Given the description of an element on the screen output the (x, y) to click on. 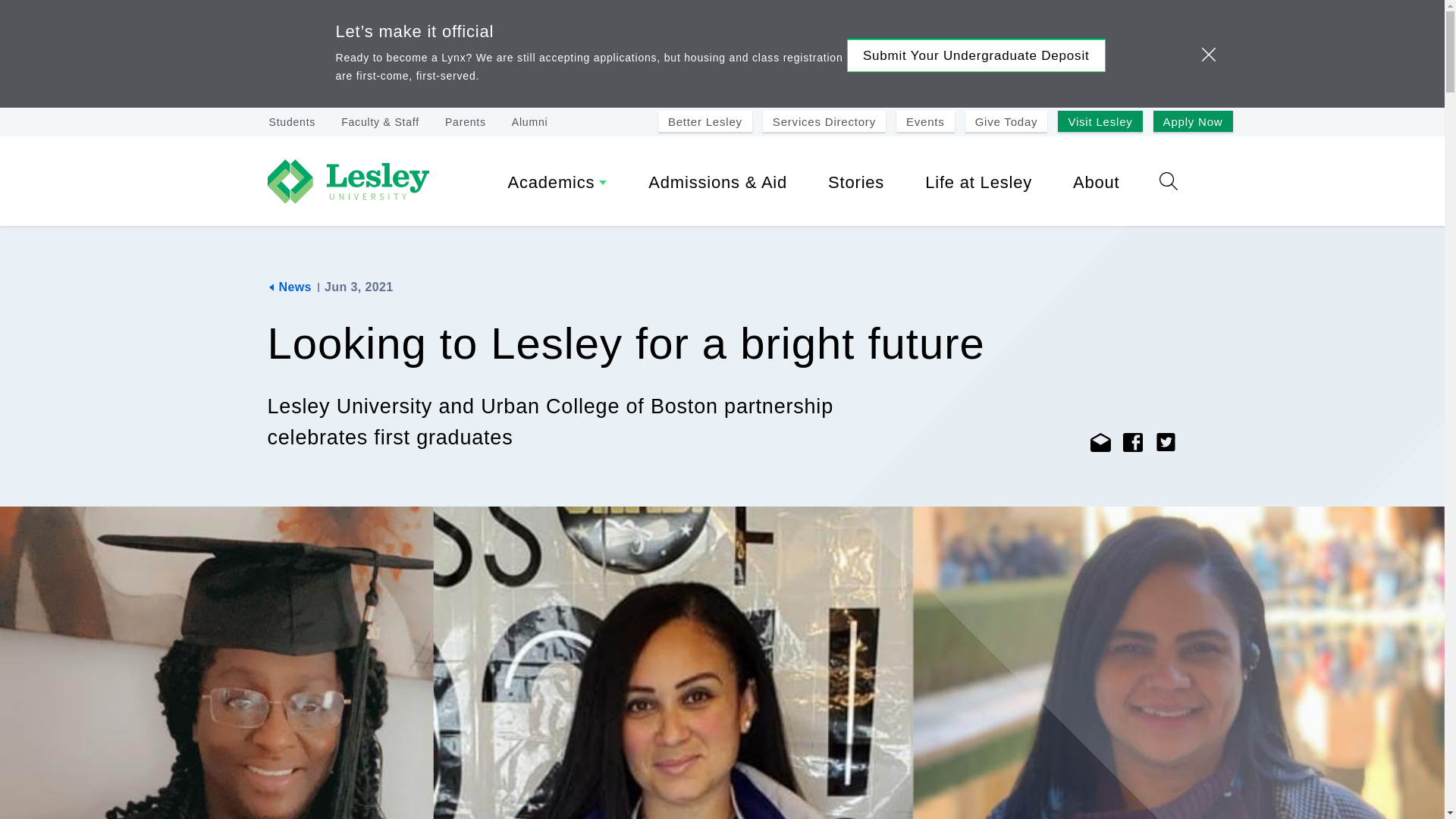
Life at Lesley (978, 184)
Apply Now (1193, 120)
Events (925, 120)
Academics (558, 184)
Better Lesley (705, 120)
Visit Lesley (1099, 120)
About (1096, 184)
Share to Facebook (1132, 442)
Alumni (530, 121)
Give Today (1006, 120)
Services Directory (823, 120)
Students (291, 121)
Share to Twitter (1165, 442)
Share to E-mail (1100, 442)
